Given the description of an element on the screen output the (x, y) to click on. 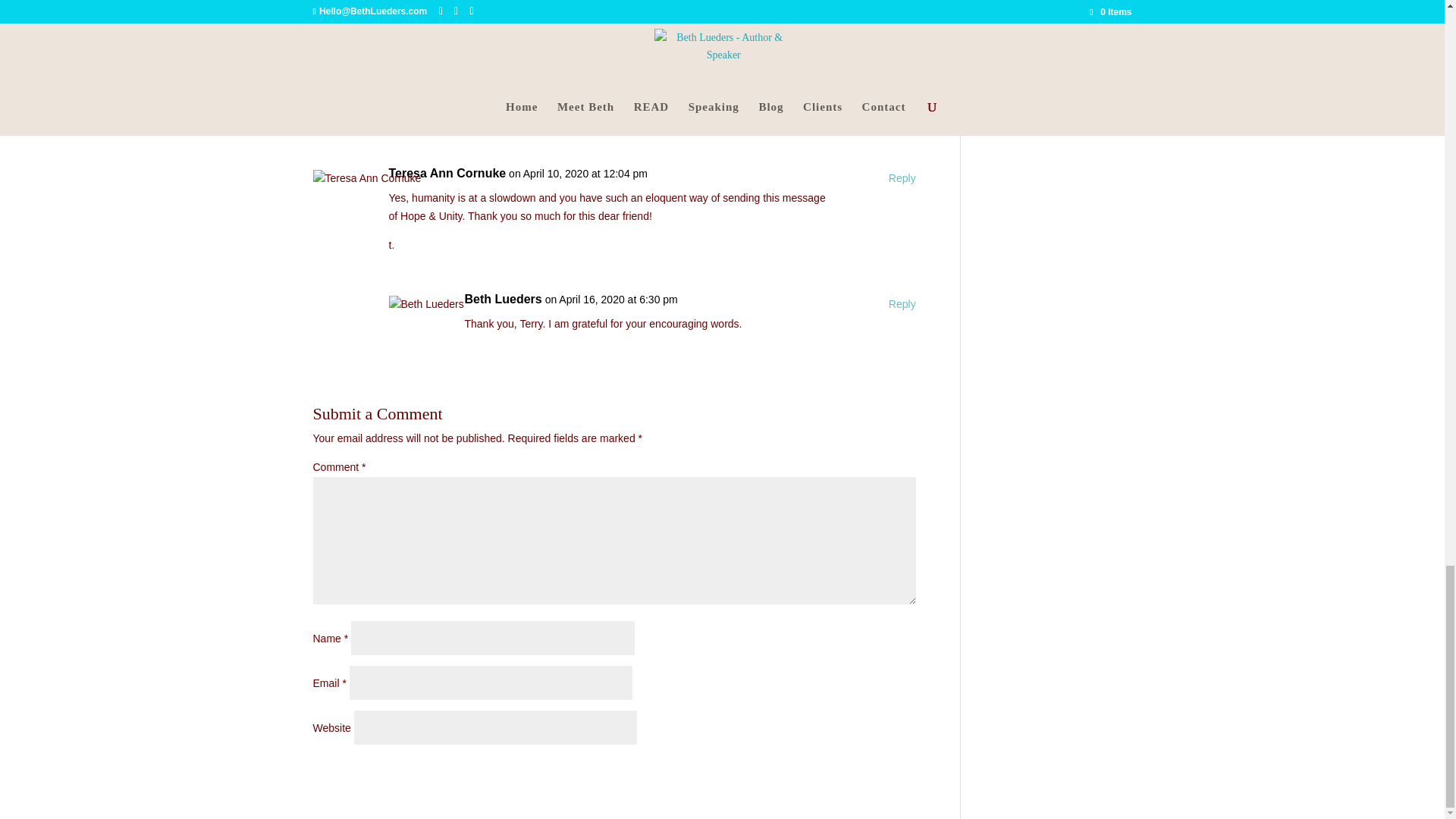
Reply (901, 178)
Reply (901, 76)
Reply (901, 304)
